Given the description of an element on the screen output the (x, y) to click on. 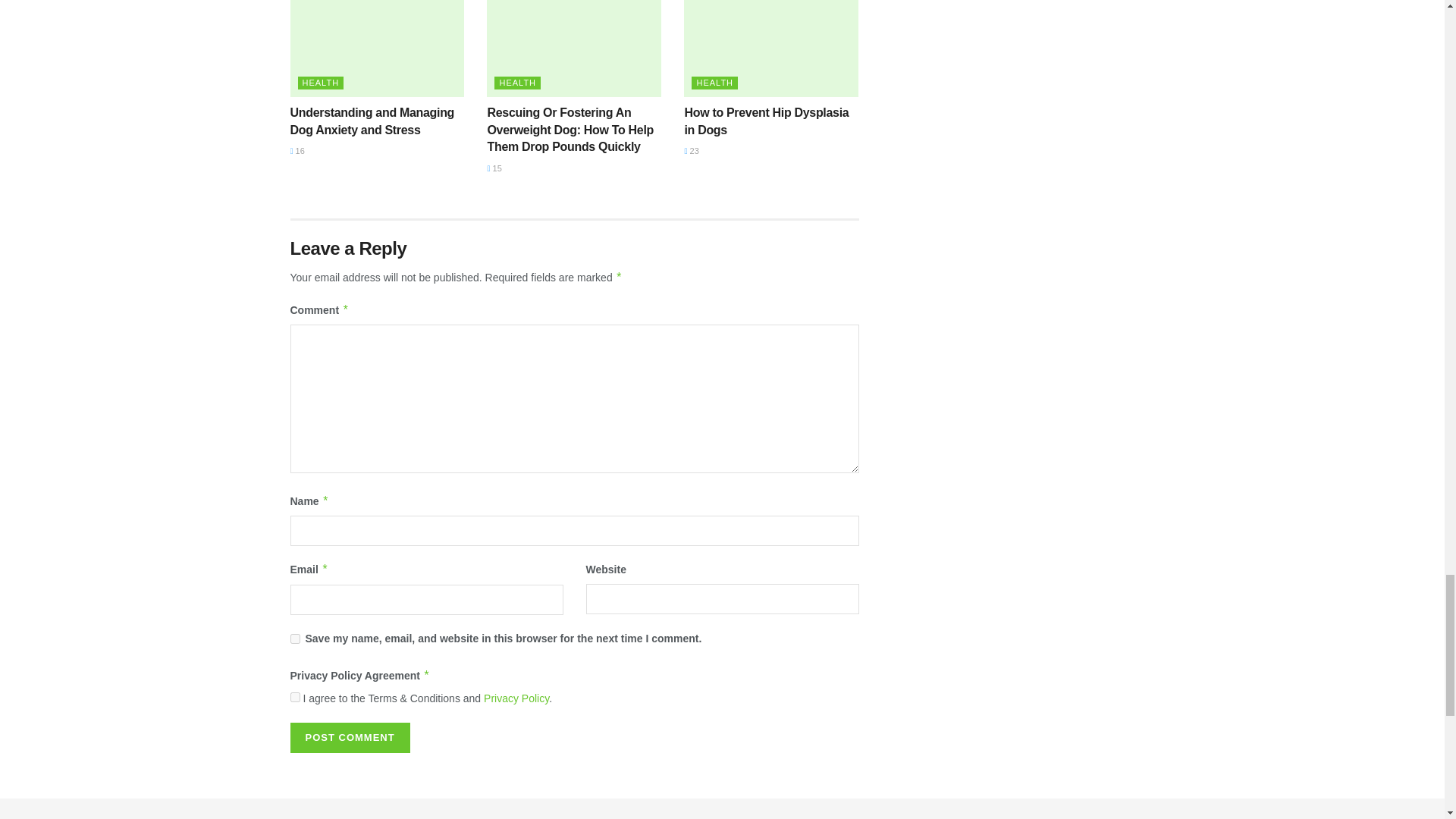
How to Prevent Hip Dysplasia in Dogs (771, 48)
Understanding and Managing Dog Anxiety and Stress (376, 48)
Post Comment (349, 737)
on (294, 696)
yes (294, 638)
